Given the description of an element on the screen output the (x, y) to click on. 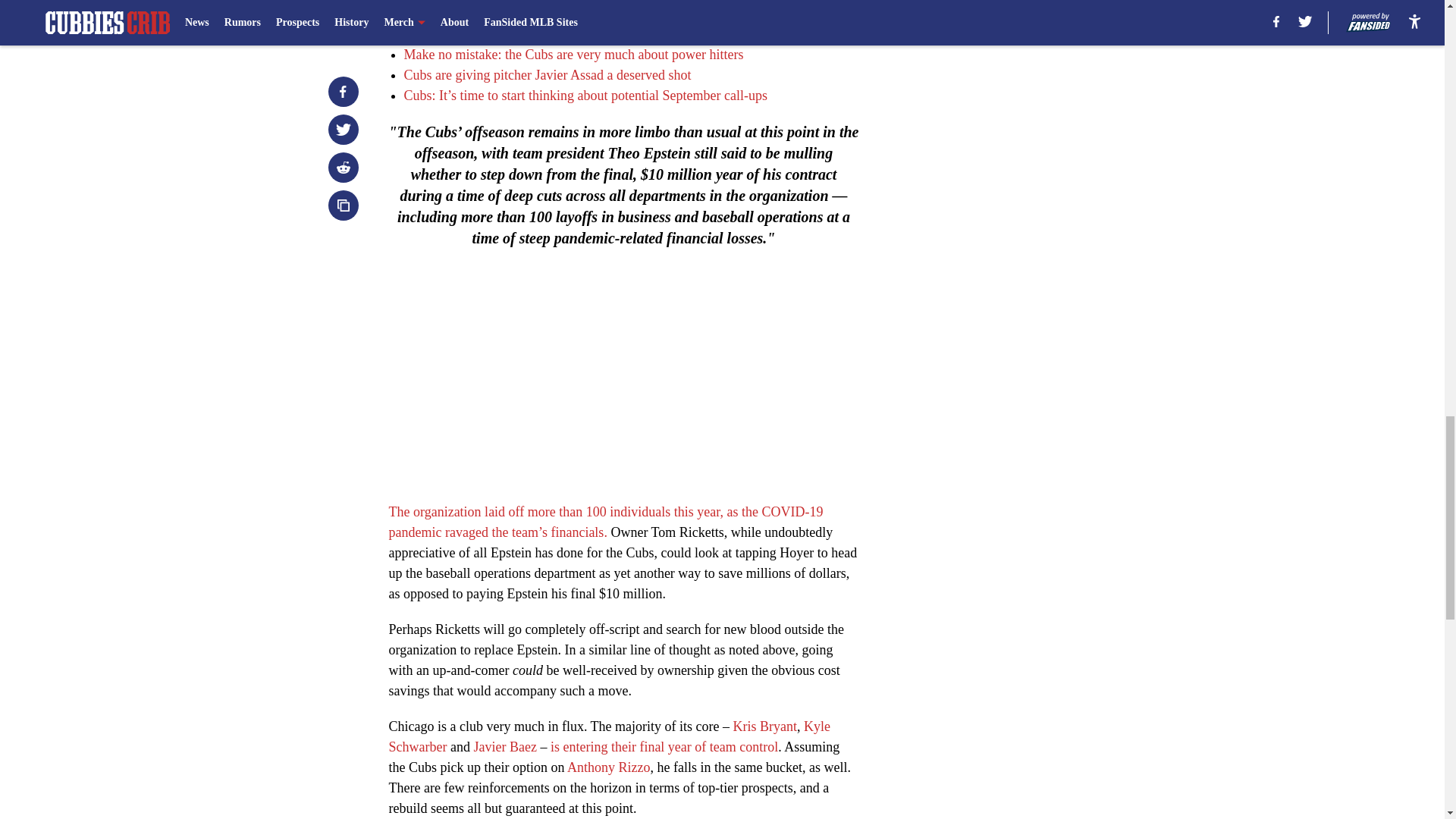
Kyle Schwarber (608, 736)
Cubs starting pitching has been thriving on the North Side (561, 33)
Kris Bryant (765, 726)
Javier Baez (504, 746)
Cubs are giving pitcher Javier Assad a deserved shot (546, 74)
Make no mistake: the Cubs are very much about power hitters (572, 54)
is entering their final year of team control (663, 746)
Anthony Rizzo (608, 767)
